Given the description of an element on the screen output the (x, y) to click on. 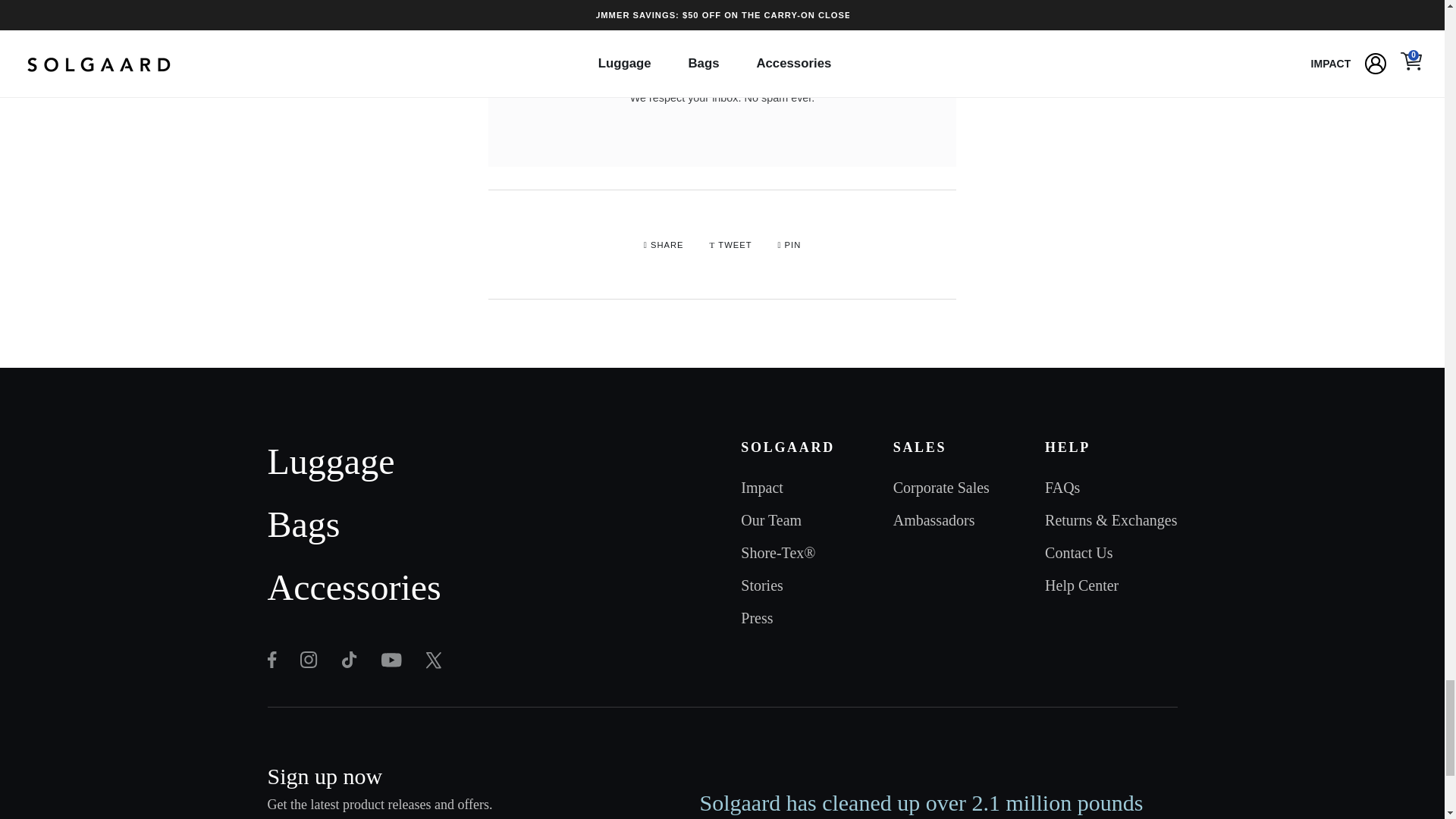
Solgaard TikTok (349, 659)
Subscribe (852, 44)
Solgaard Twitter (391, 659)
Solgaard Twitter (308, 659)
